Given the description of an element on the screen output the (x, y) to click on. 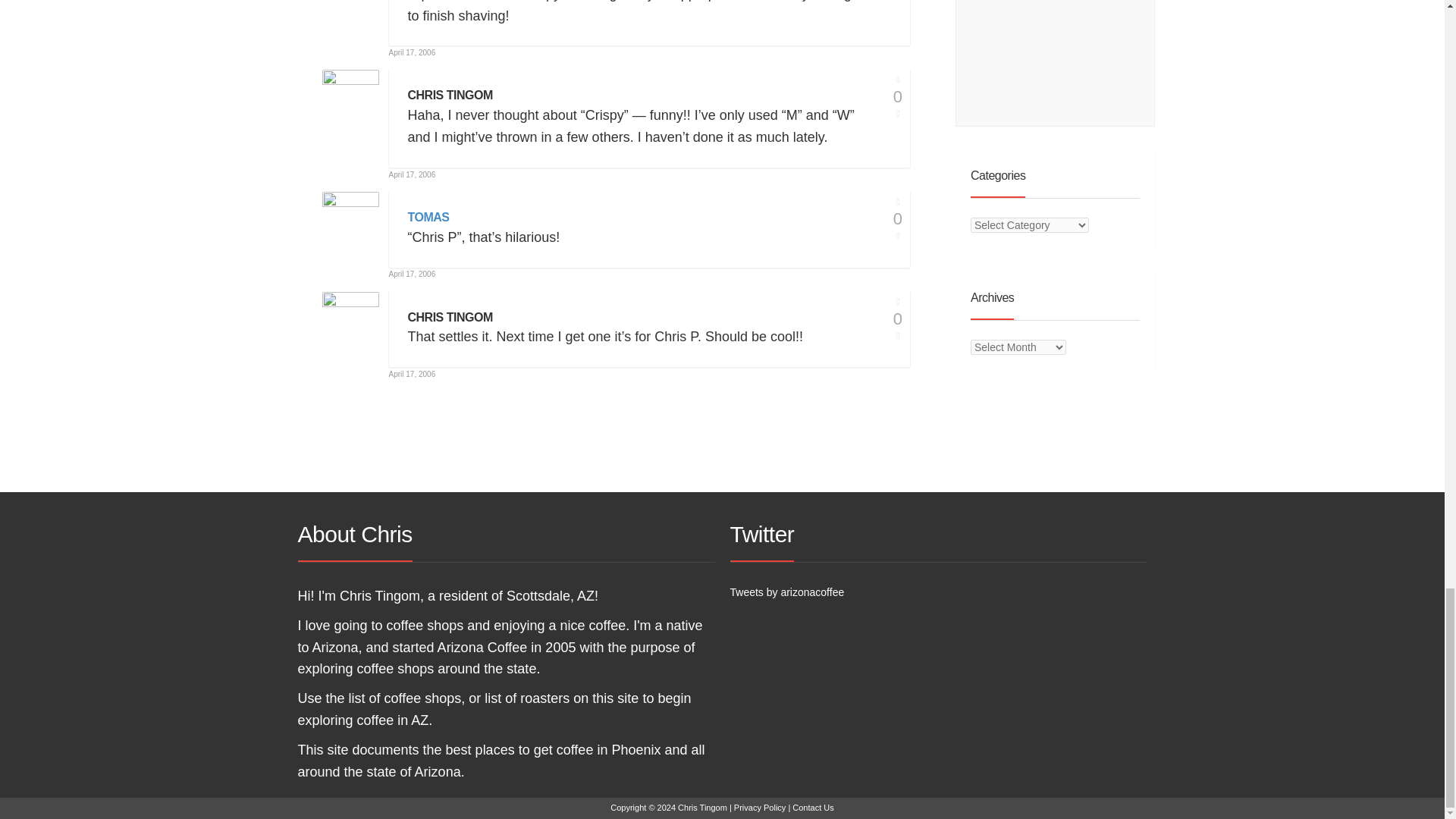
April 17, 2006 (411, 374)
April 17, 2006 (411, 274)
CHRIS TINGOM (450, 95)
April 17, 2006 (411, 52)
April 17, 2006 (411, 174)
